Given the description of an element on the screen output the (x, y) to click on. 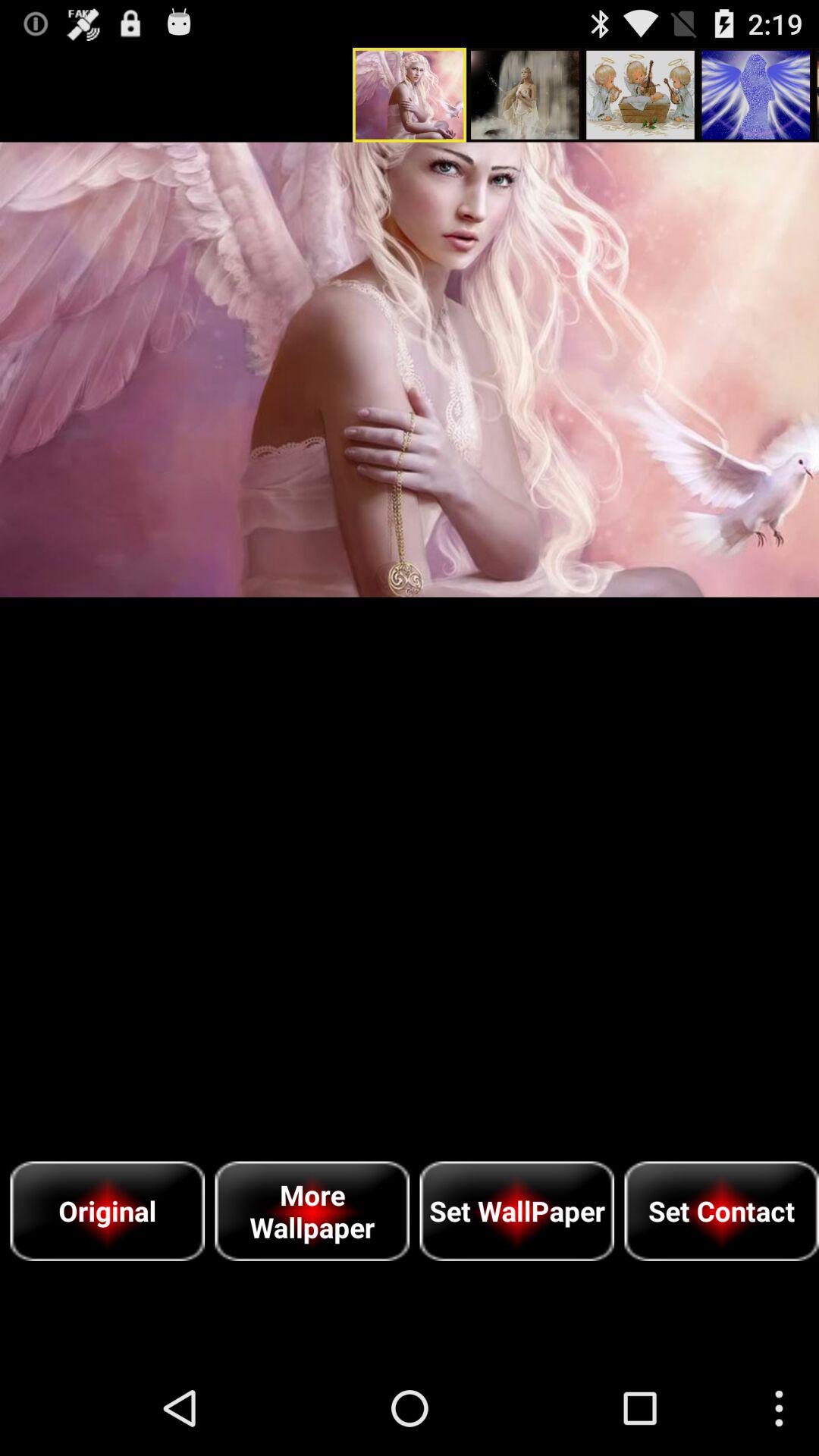
jump to set contact (721, 1210)
